Given the description of an element on the screen output the (x, y) to click on. 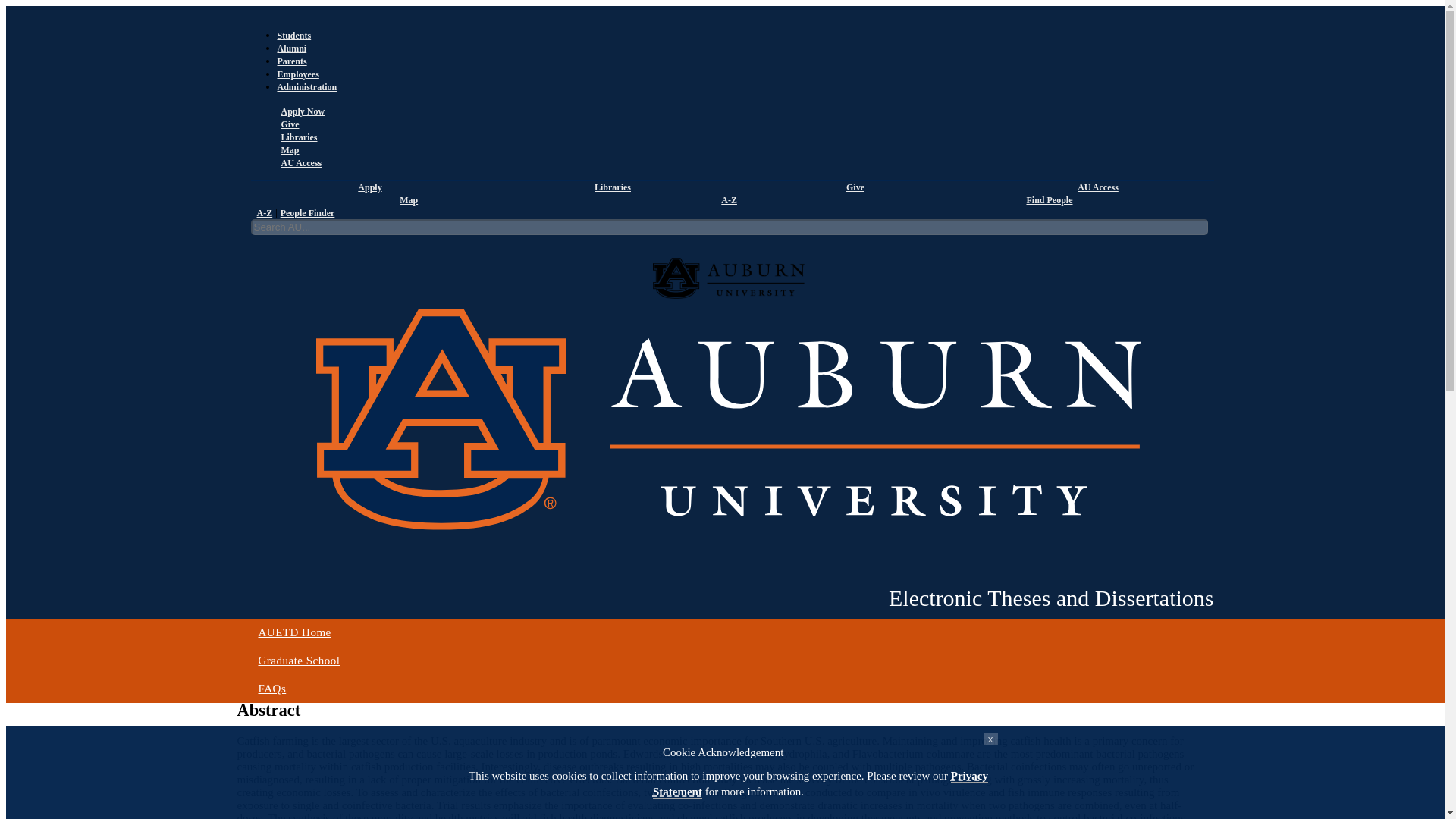
Give (853, 186)
Map (406, 199)
A-Z (264, 213)
Libraries (610, 186)
Authors (319, 219)
People Finder (307, 213)
Libraries (297, 136)
By Issue Date (267, 219)
Employees (298, 73)
AUETD Home (727, 633)
Apply Now (301, 111)
AUETD Home (274, 287)
Parents (292, 61)
A-Z (726, 199)
